Given the description of an element on the screen output the (x, y) to click on. 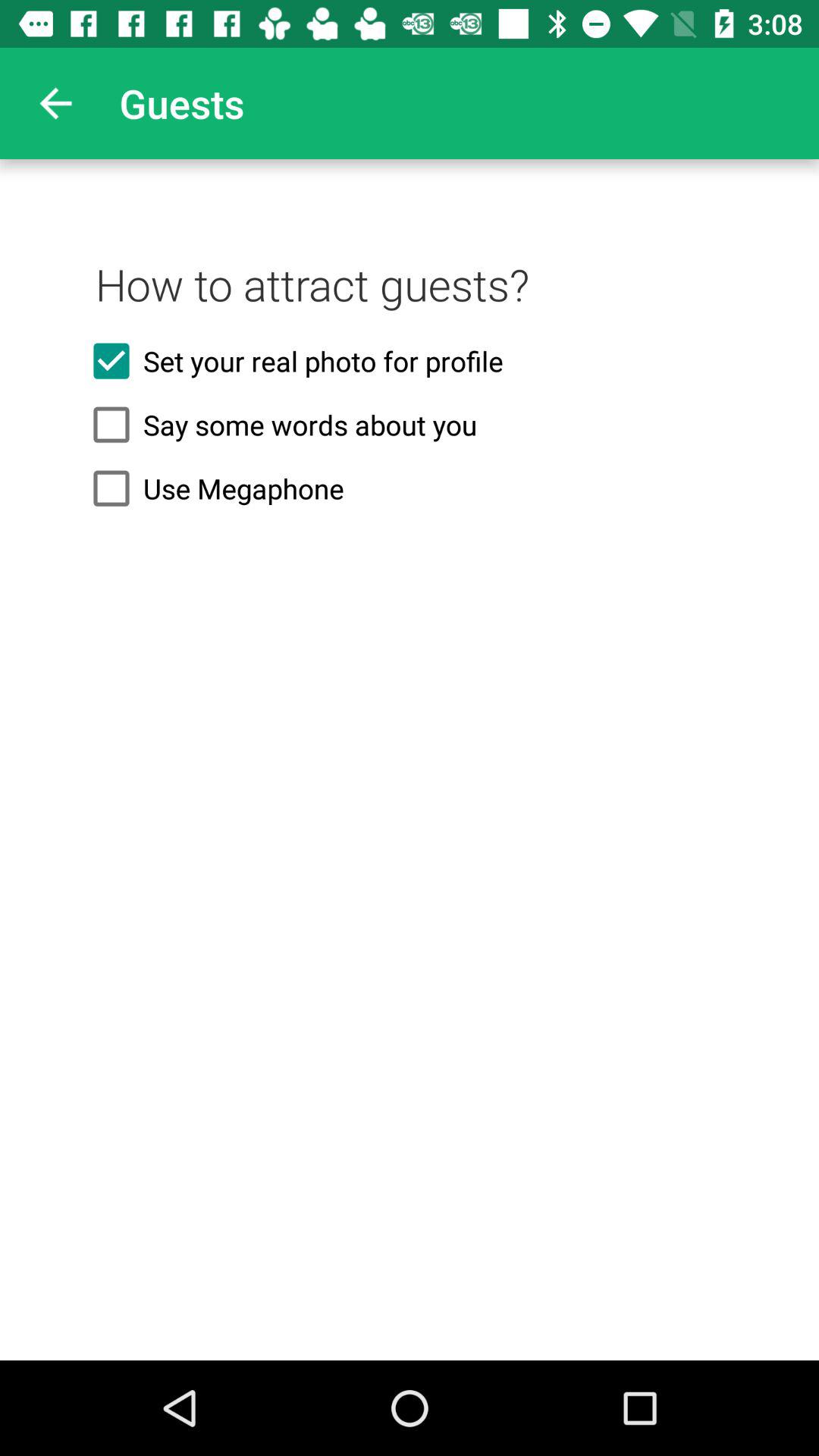
swipe until use megaphone item (409, 488)
